Given the description of an element on the screen output the (x, y) to click on. 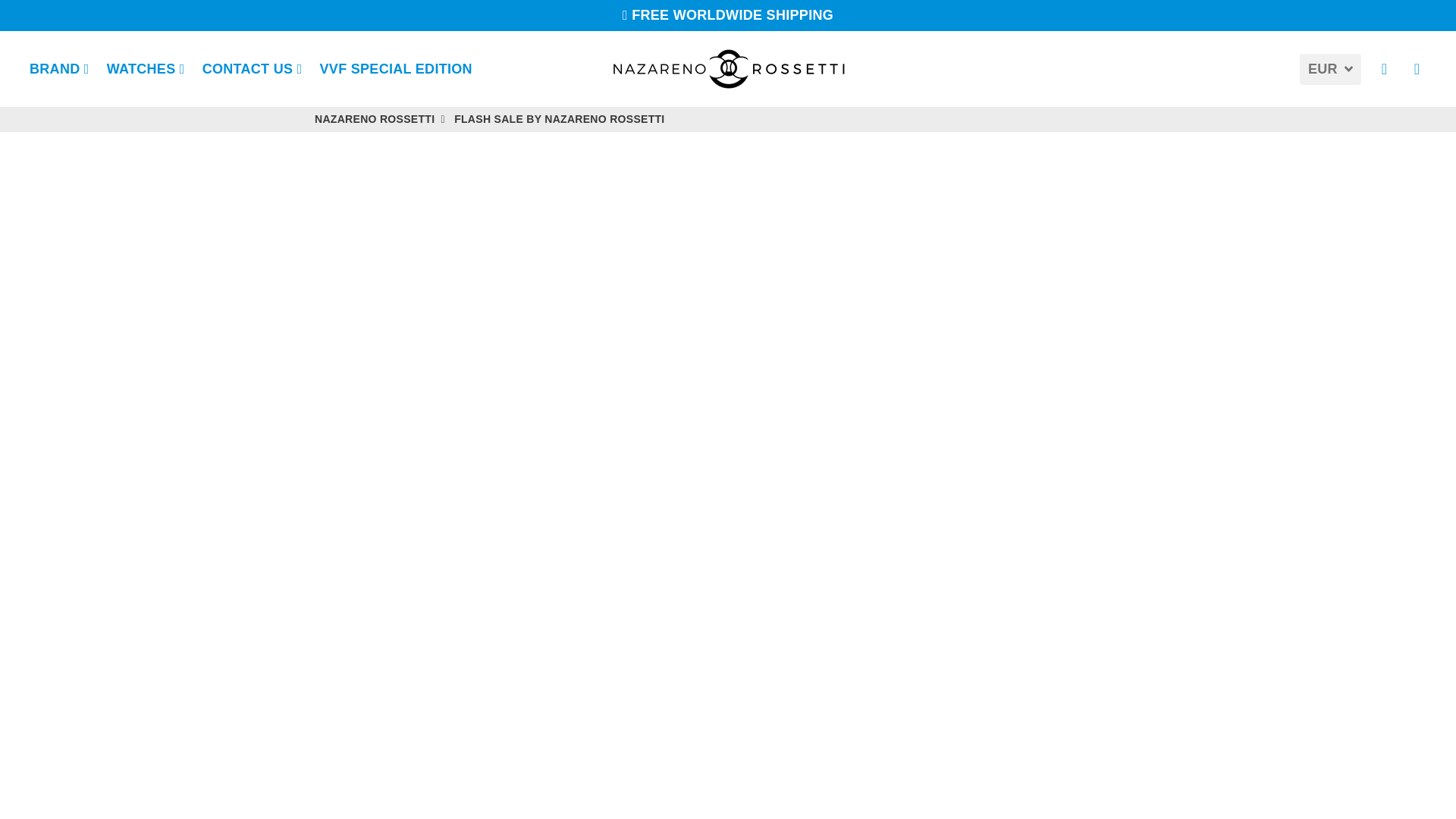
WATCHES (146, 68)
VVF SPECIAL EDITION (396, 68)
BRAND (59, 68)
CONTACT US (251, 68)
NAZARENO ROSSETTI (727, 68)
LOG IN (1384, 68)
